Given the description of an element on the screen output the (x, y) to click on. 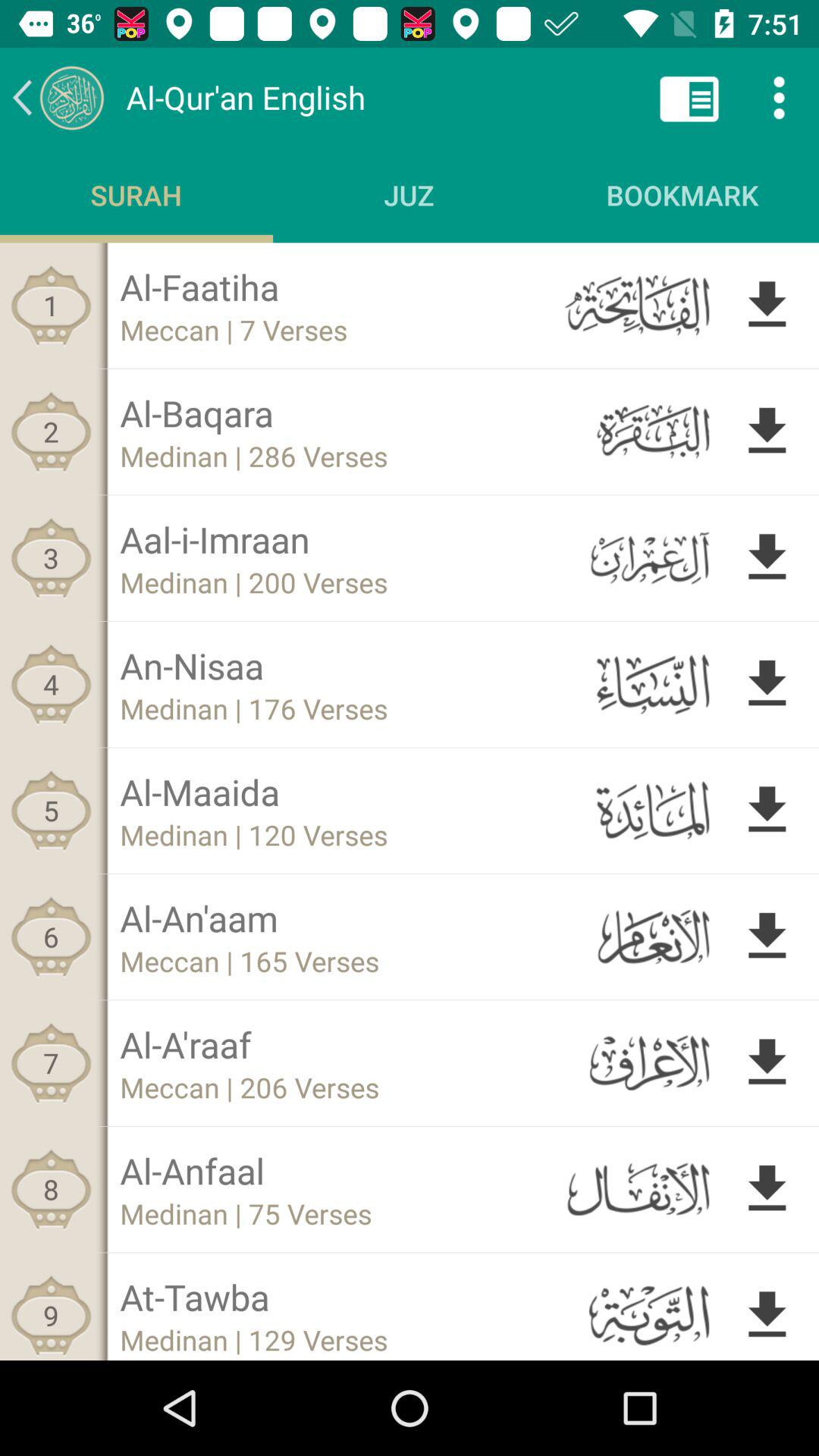
download option (767, 1062)
